Given the description of an element on the screen output the (x, y) to click on. 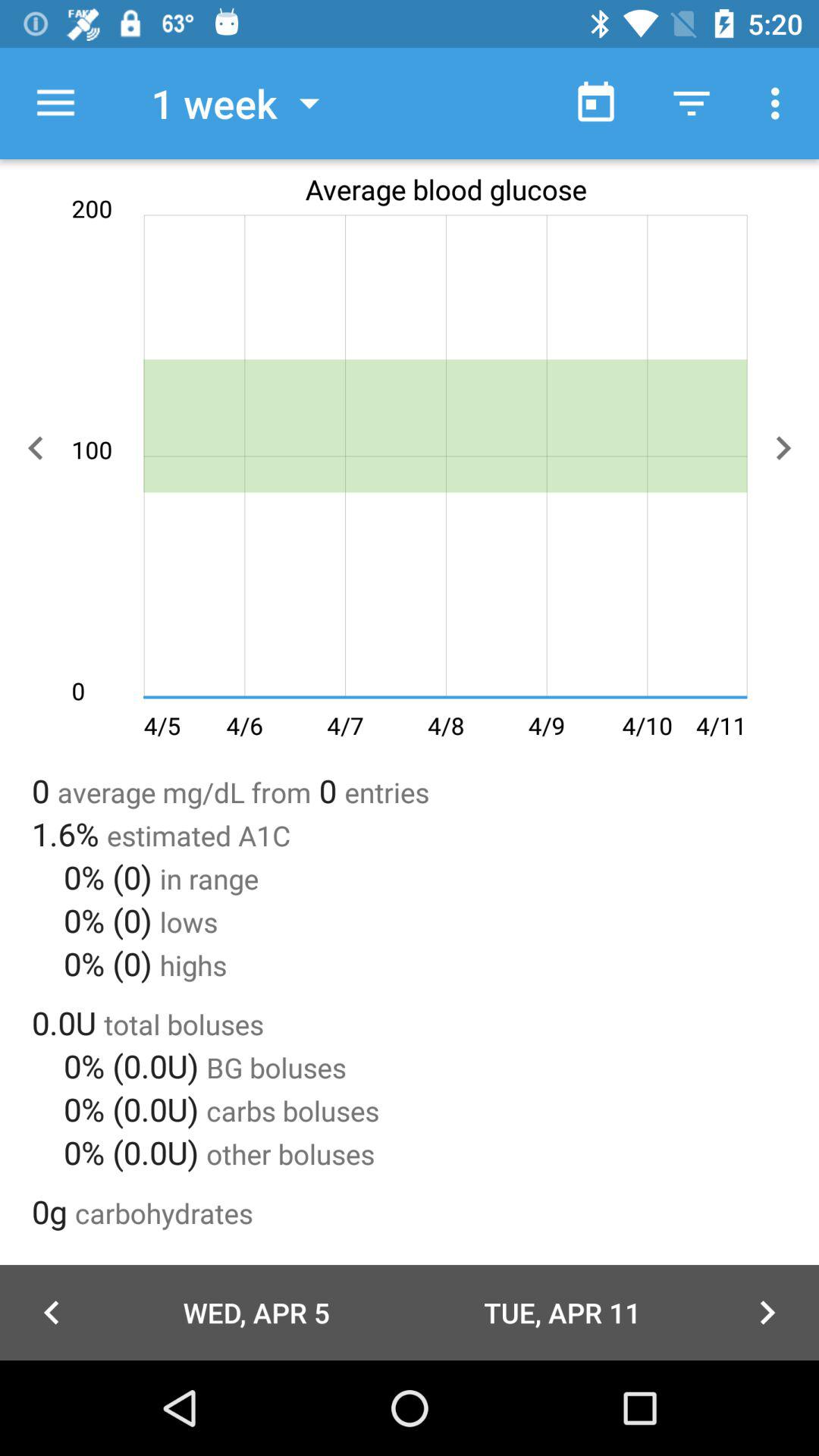
turn on the item next to 1 week item (595, 103)
